Given the description of an element on the screen output the (x, y) to click on. 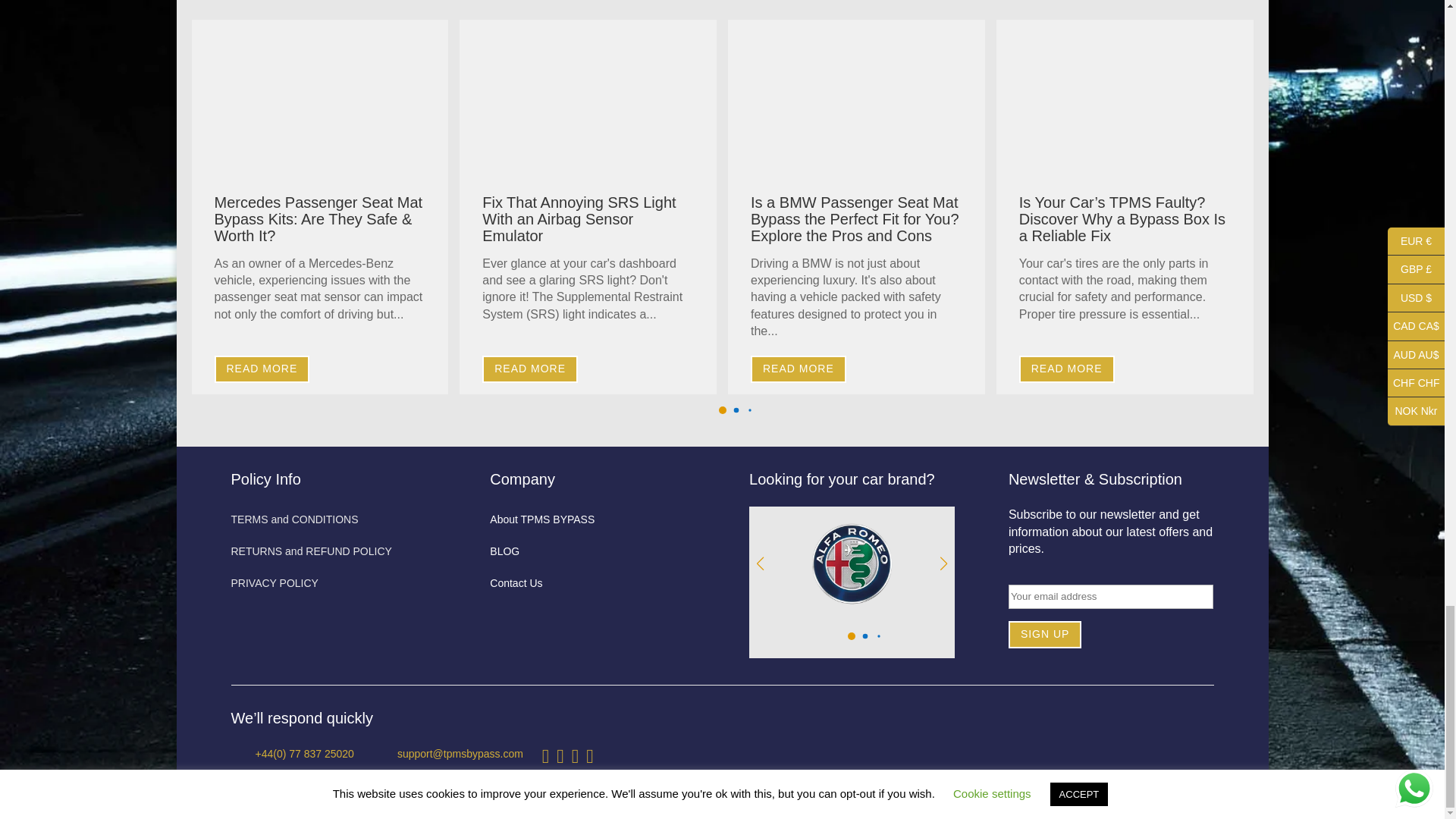
Sign up (1045, 634)
